Given the description of an element on the screen output the (x, y) to click on. 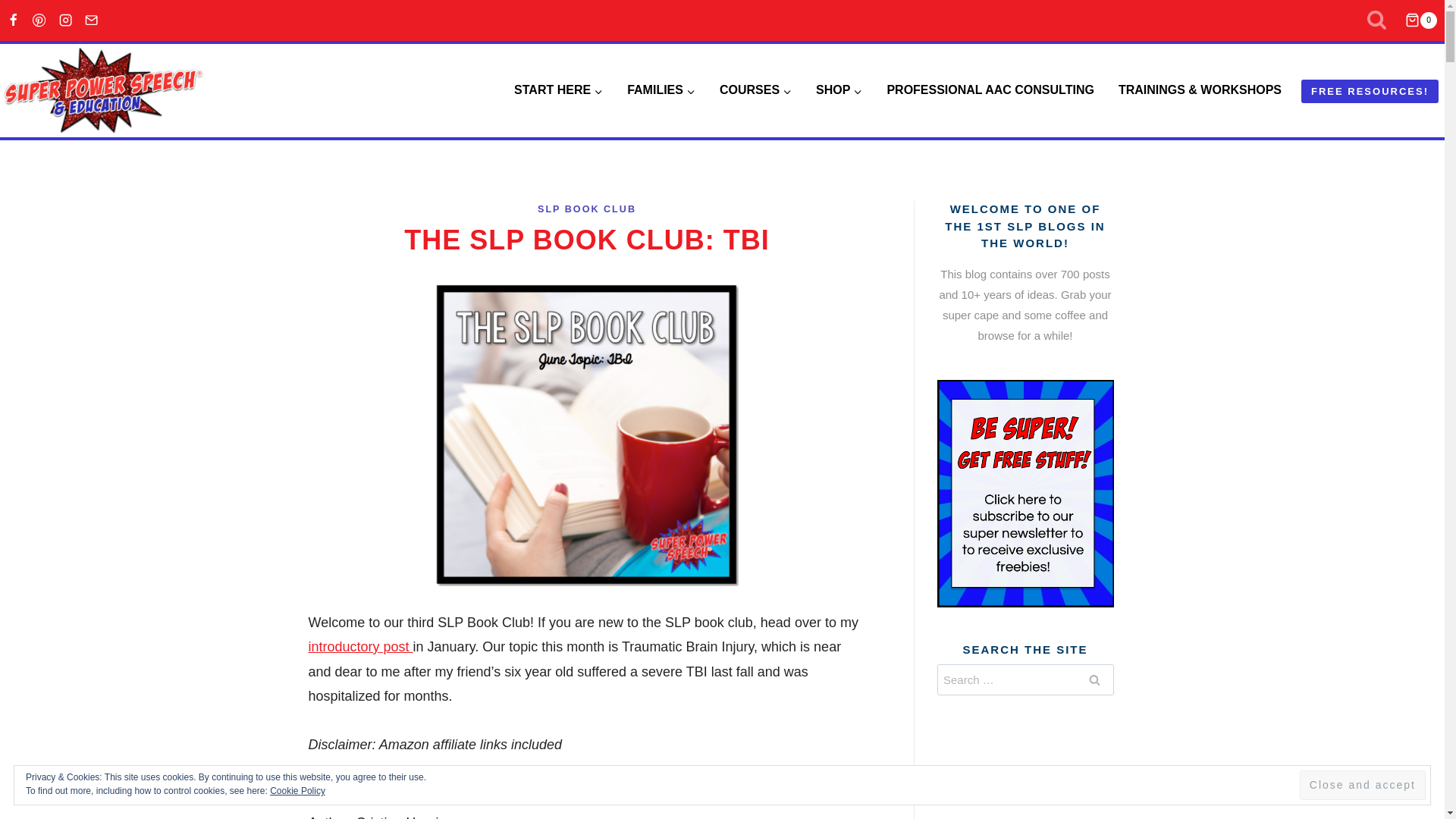
START HERE (558, 90)
FAMILIES (660, 90)
SLP BOOK CLUB (586, 208)
COURSES (755, 90)
PROFESSIONAL AAC CONSULTING (990, 90)
SHOP (839, 90)
Search (1094, 679)
Search (1094, 679)
FREE RESOURCES! (1369, 91)
introductory post (359, 646)
